Given the description of an element on the screen output the (x, y) to click on. 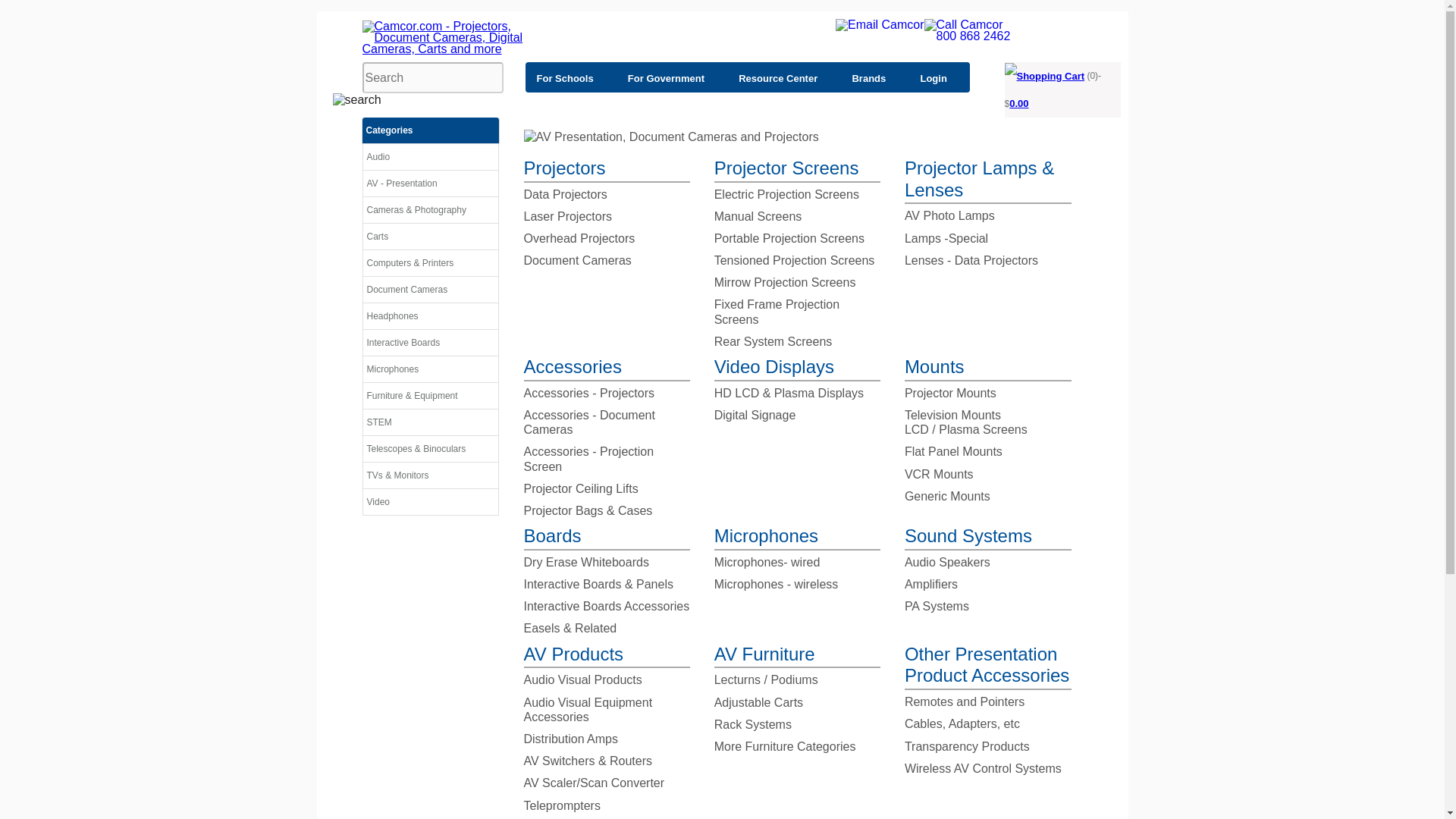
For Government   (670, 77)
Audio Headphones (429, 319)
Resource Center   (783, 77)
AV - Presentation (429, 187)
0.00 (1018, 102)
Login   (938, 77)
AV Products: Projectors Document Cameras, Screens (429, 187)
Brands   (874, 77)
For Schools   (569, 77)
Audio (429, 160)
